Given the description of an element on the screen output the (x, y) to click on. 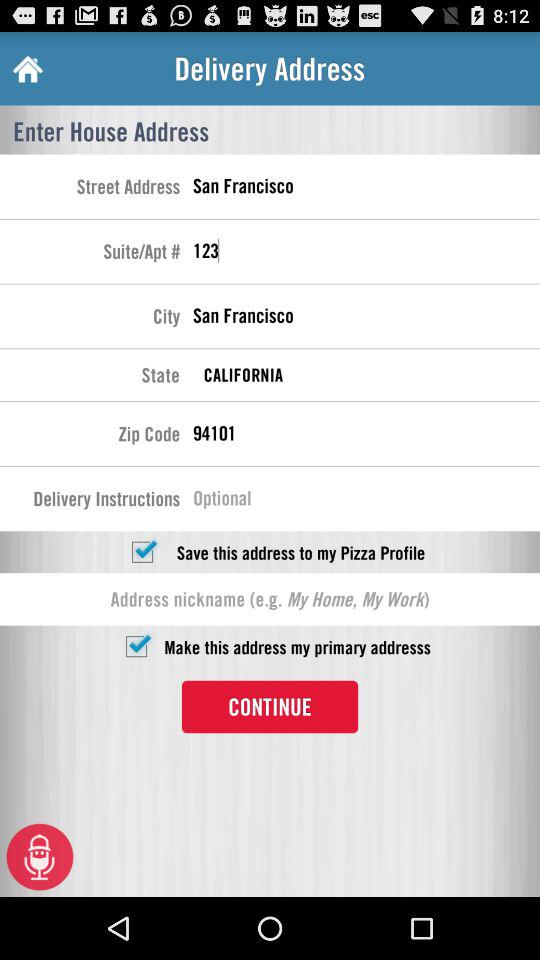
check or uncheck save address (142, 552)
